Given the description of an element on the screen output the (x, y) to click on. 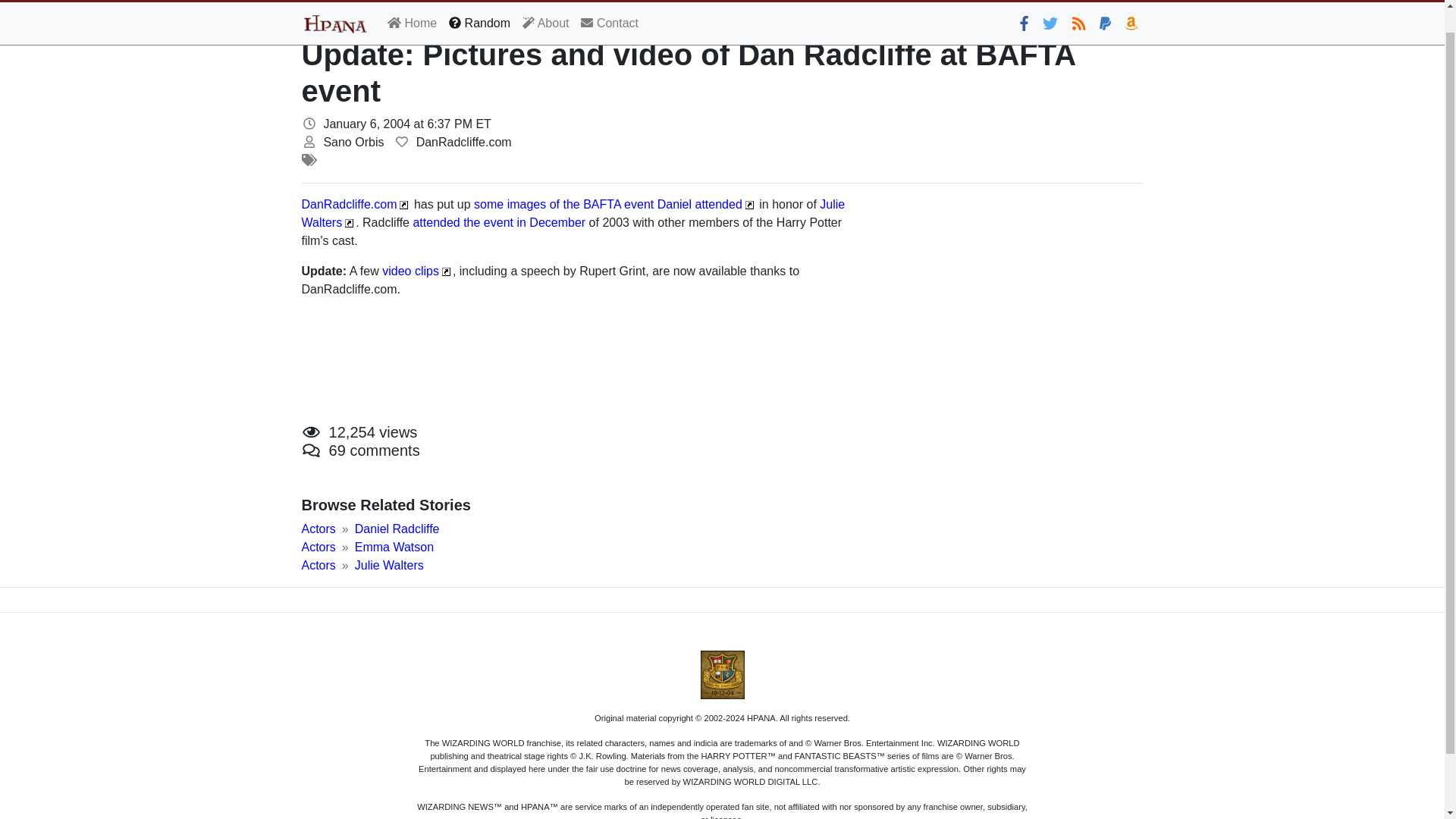
Home (411, 7)
Emma Watson (394, 546)
DanRadcliffe.com (349, 204)
Actors (318, 564)
DanRadcliffe.com (349, 204)
Why couldn't it be 'follow the butterflies?!' (1050, 5)
Published (309, 123)
Zuck will know if you don't click this (1024, 5)
Actors (318, 528)
About (545, 7)
